Given the description of an element on the screen output the (x, y) to click on. 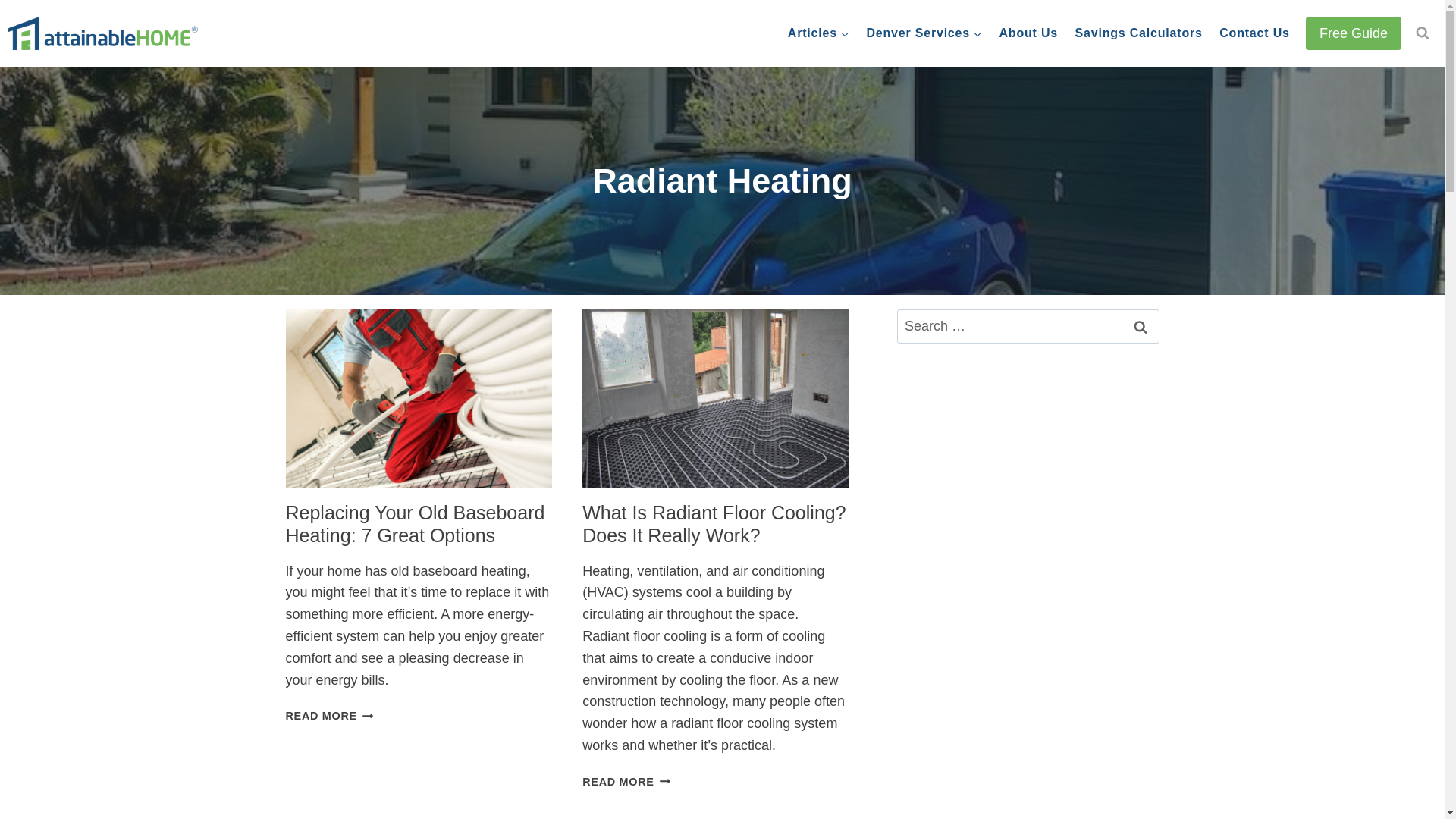
Articles (818, 33)
Search (1139, 326)
Search (1139, 326)
